Given the description of an element on the screen output the (x, y) to click on. 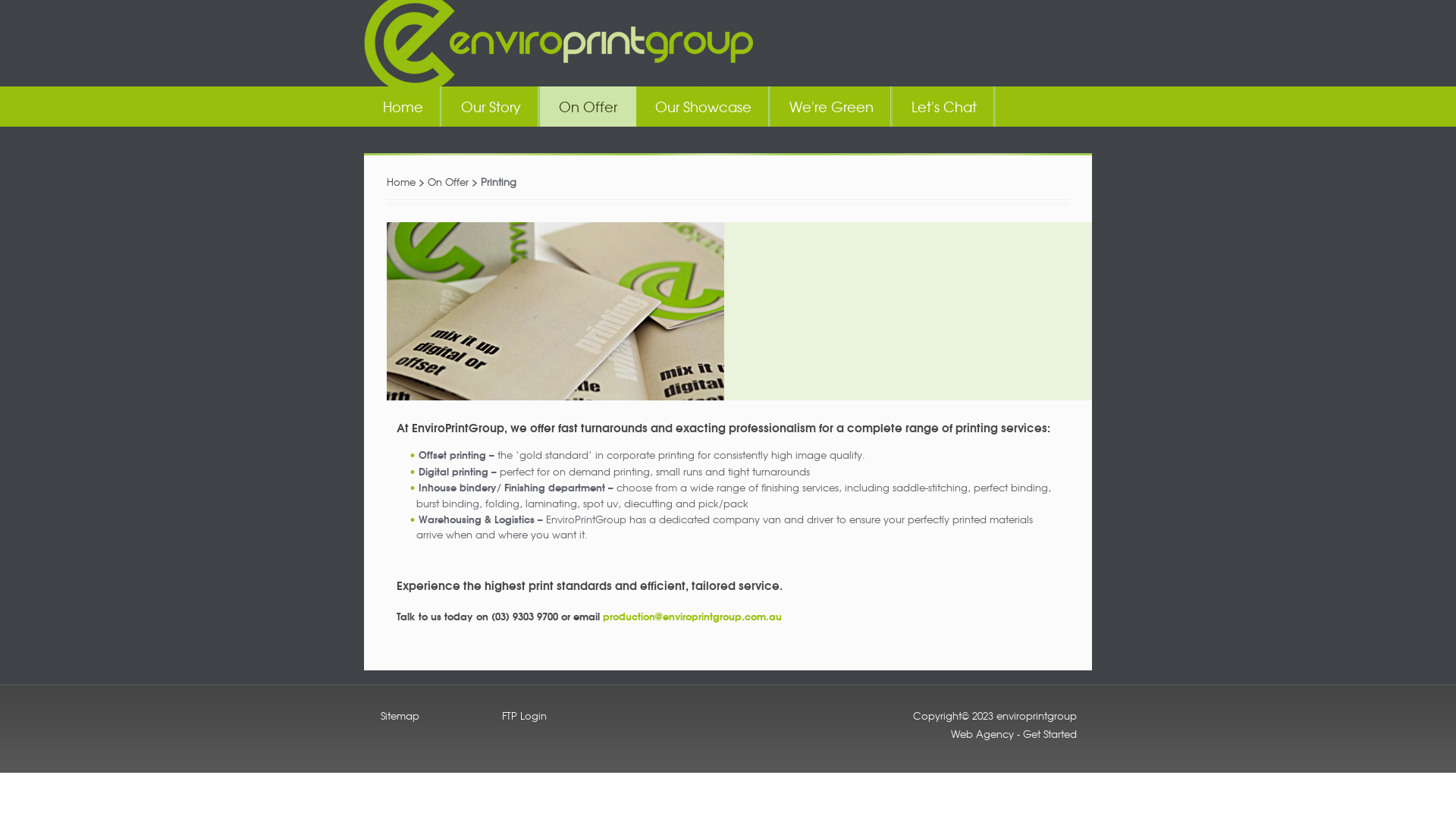
Home Element type: text (400, 181)
Our Showcase Element type: text (703, 106)
Let's Chat Element type: text (943, 106)
Our Story Element type: text (490, 106)
On Offer Element type: text (587, 106)
We're Green Element type: text (831, 106)
Sitemap Element type: text (399, 715)
production@enviroprintgroup.com.au Element type: text (691, 615)
On Offer Element type: text (447, 181)
FTP Login Element type: text (524, 715)
Get Started Element type: text (1049, 733)
Home Element type: text (403, 106)
